Given the description of an element on the screen output the (x, y) to click on. 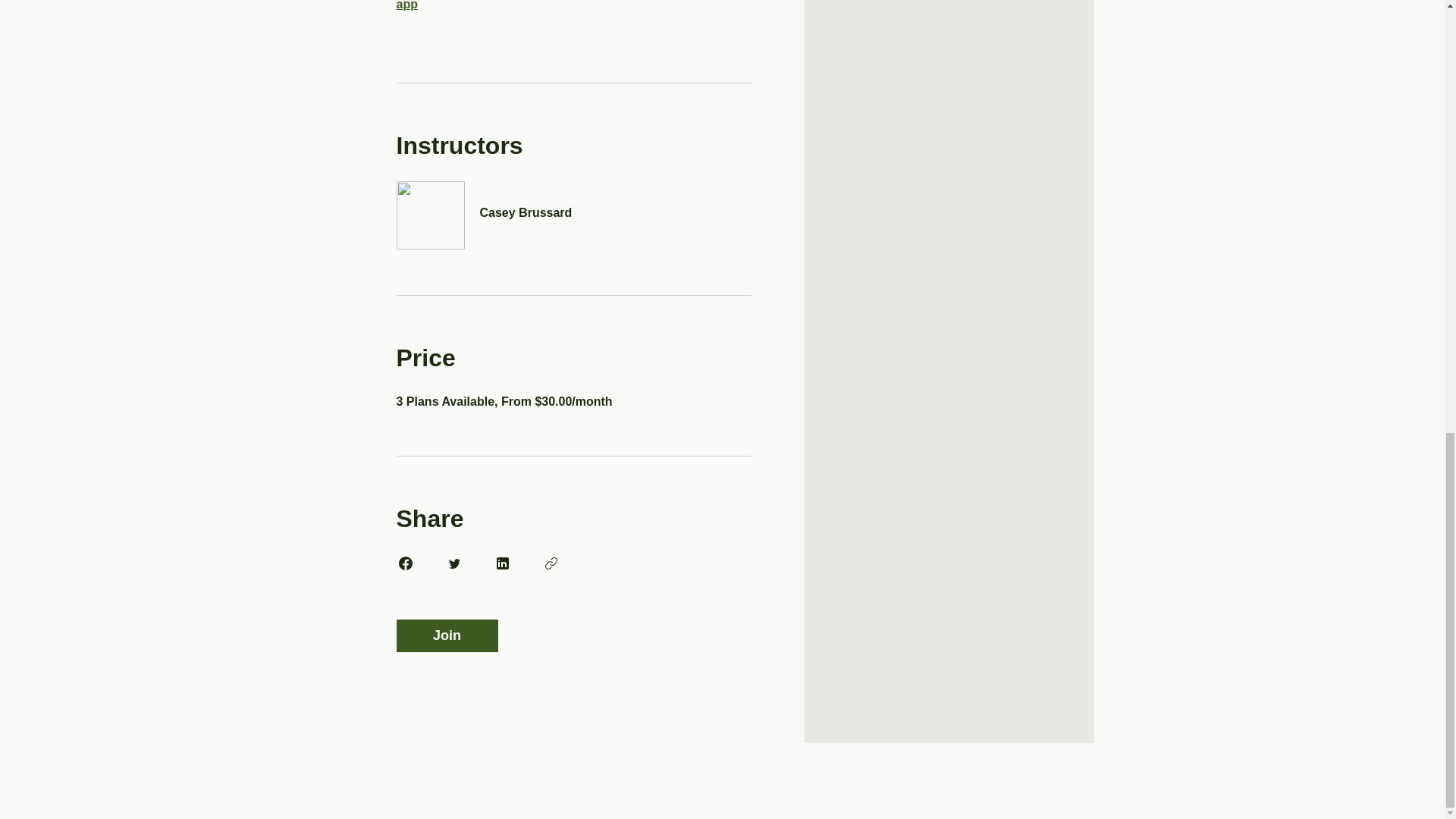
Join (446, 635)
Casey Brussard (573, 203)
Go to the app (568, 4)
